Given the description of an element on the screen output the (x, y) to click on. 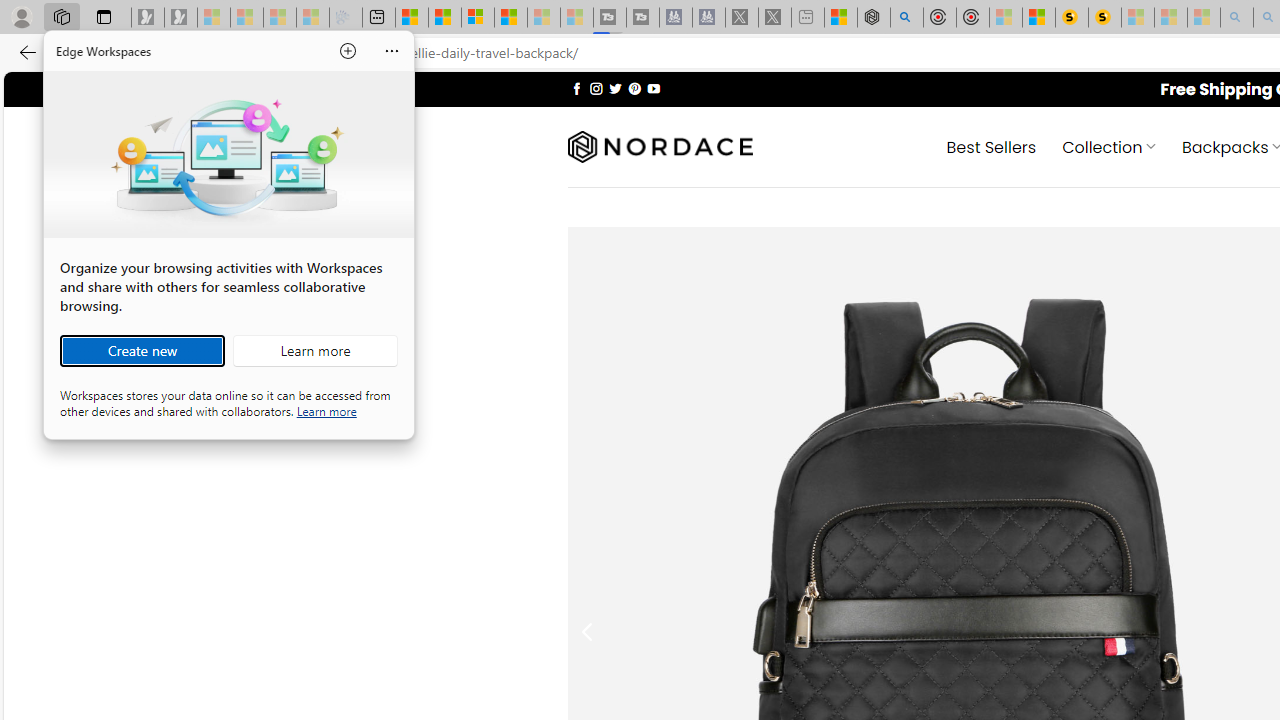
Learn more about Workspaces privacy (326, 410)
poe - Search (906, 17)
Overview (478, 17)
